Given the description of an element on the screen output the (x, y) to click on. 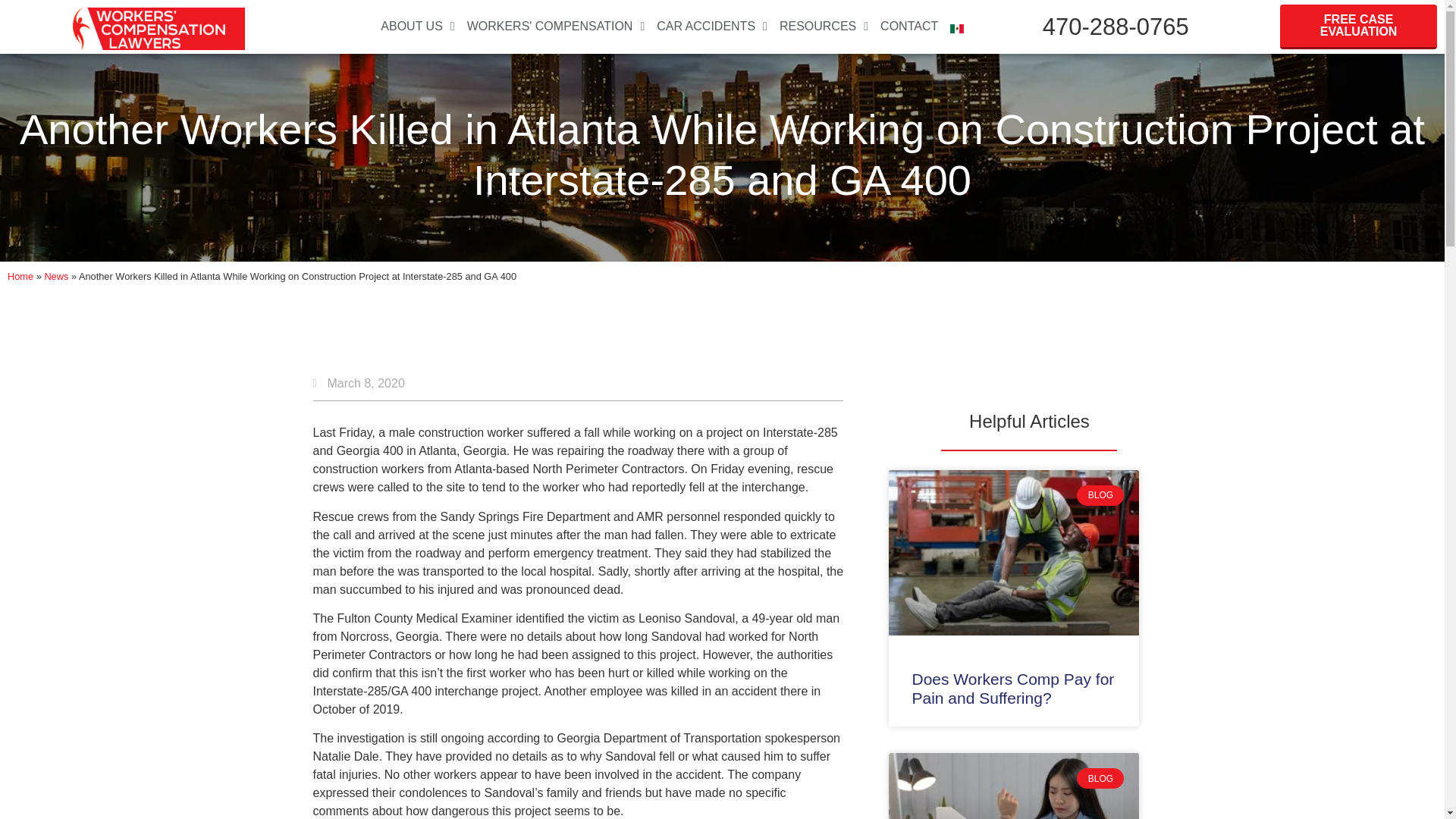
ABOUT US (417, 26)
WORKERS' COMPENSATION (555, 26)
CONTACT (909, 26)
RESOURCES (824, 26)
CAR ACCIDENTS (711, 26)
